Given the description of an element on the screen output the (x, y) to click on. 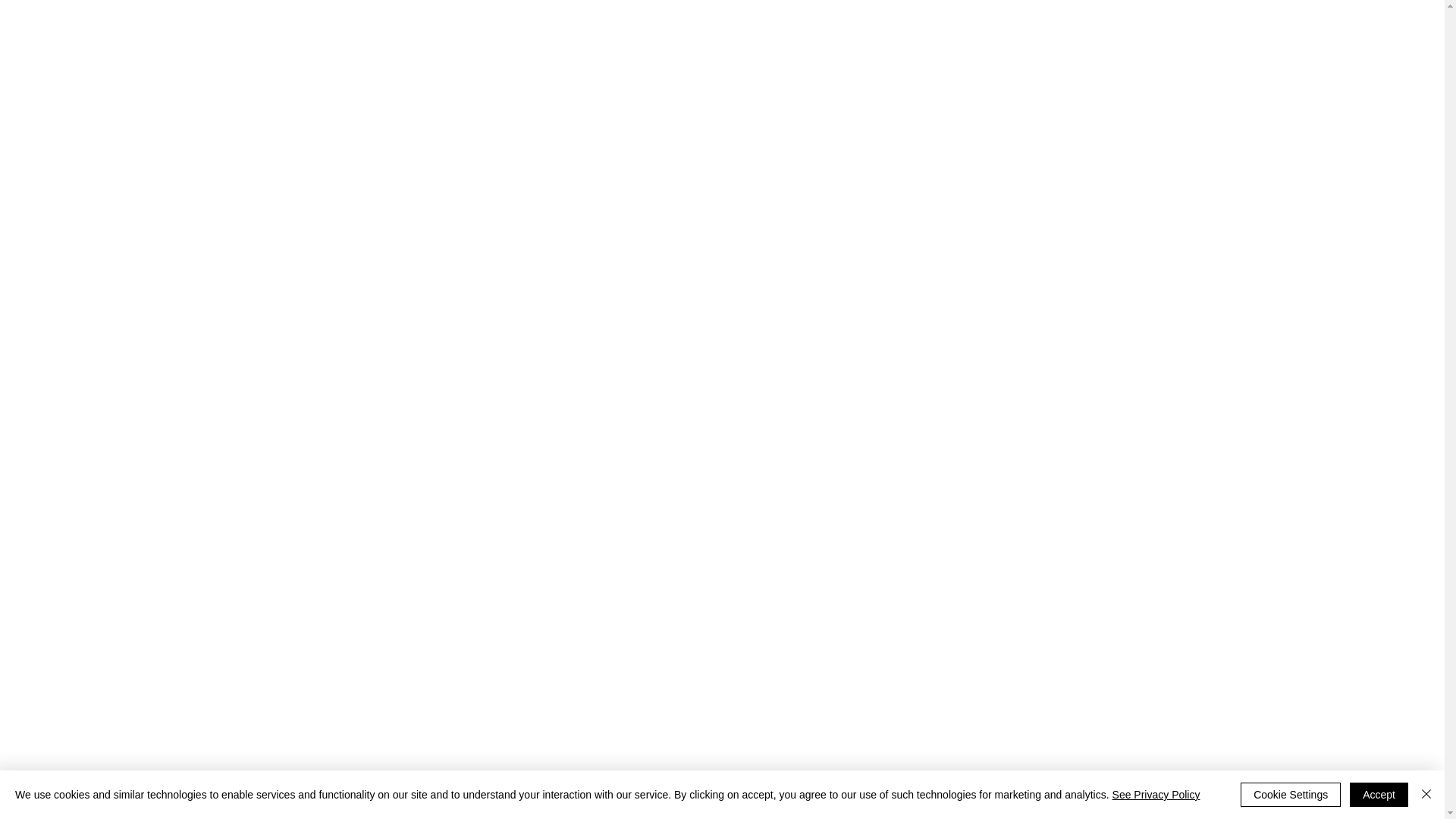
Cookie Settings Element type: text (1290, 794)
See Privacy Policy Element type: text (1156, 794)
Accept Element type: text (1378, 794)
